Given the description of an element on the screen output the (x, y) to click on. 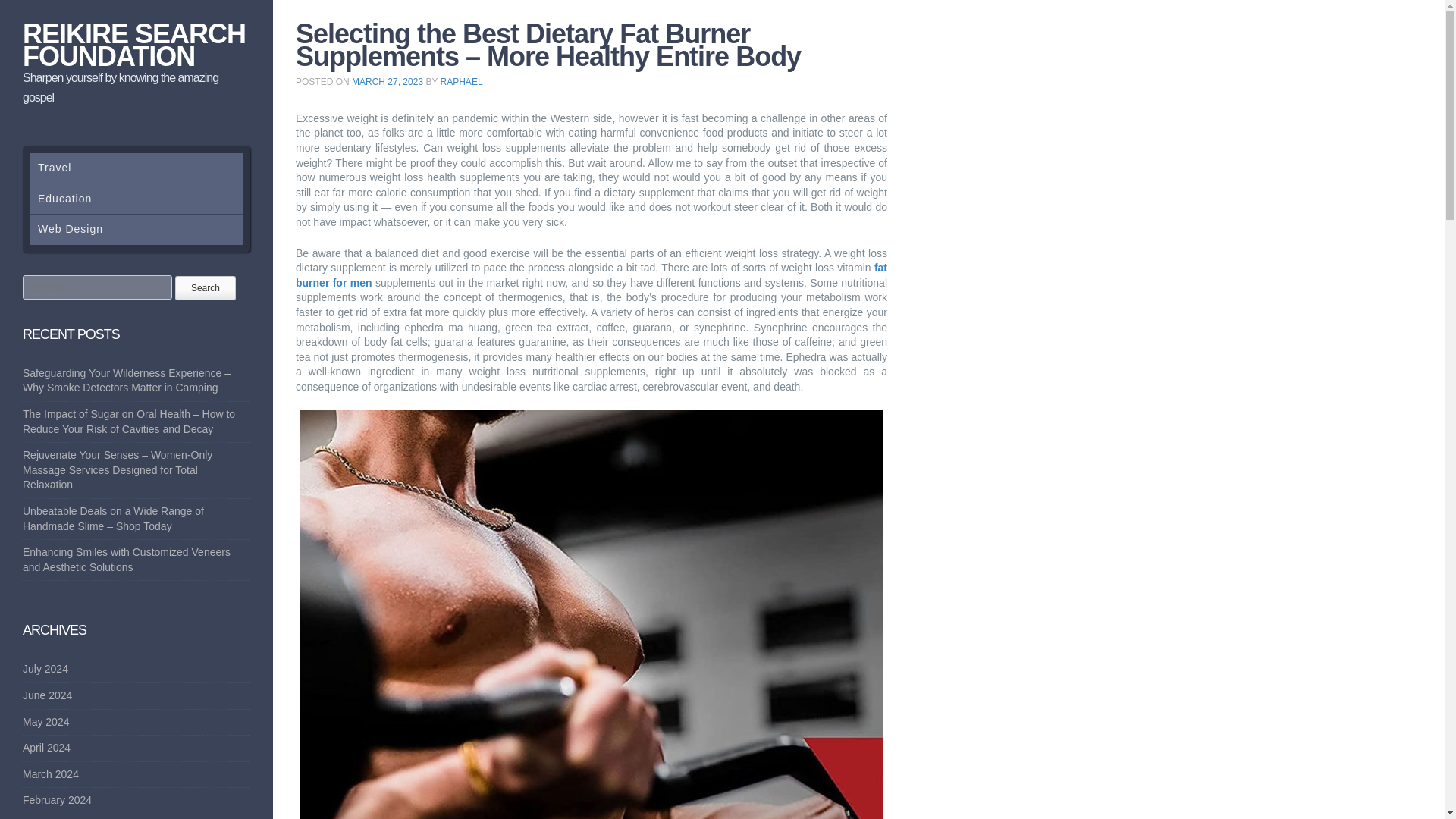
View all posts by Raphael (462, 81)
Education (136, 198)
Reikire Search Foundation (134, 45)
REIKIRE SEARCH FOUNDATION (134, 45)
February 2024 (57, 799)
Search (204, 288)
July 2024 (45, 668)
April 2024 (46, 747)
Search (204, 288)
May 2024 (45, 721)
March 2024 (50, 774)
Web Design (136, 228)
June 2024 (47, 695)
10:12 am (387, 81)
Travel (136, 168)
